Given the description of an element on the screen output the (x, y) to click on. 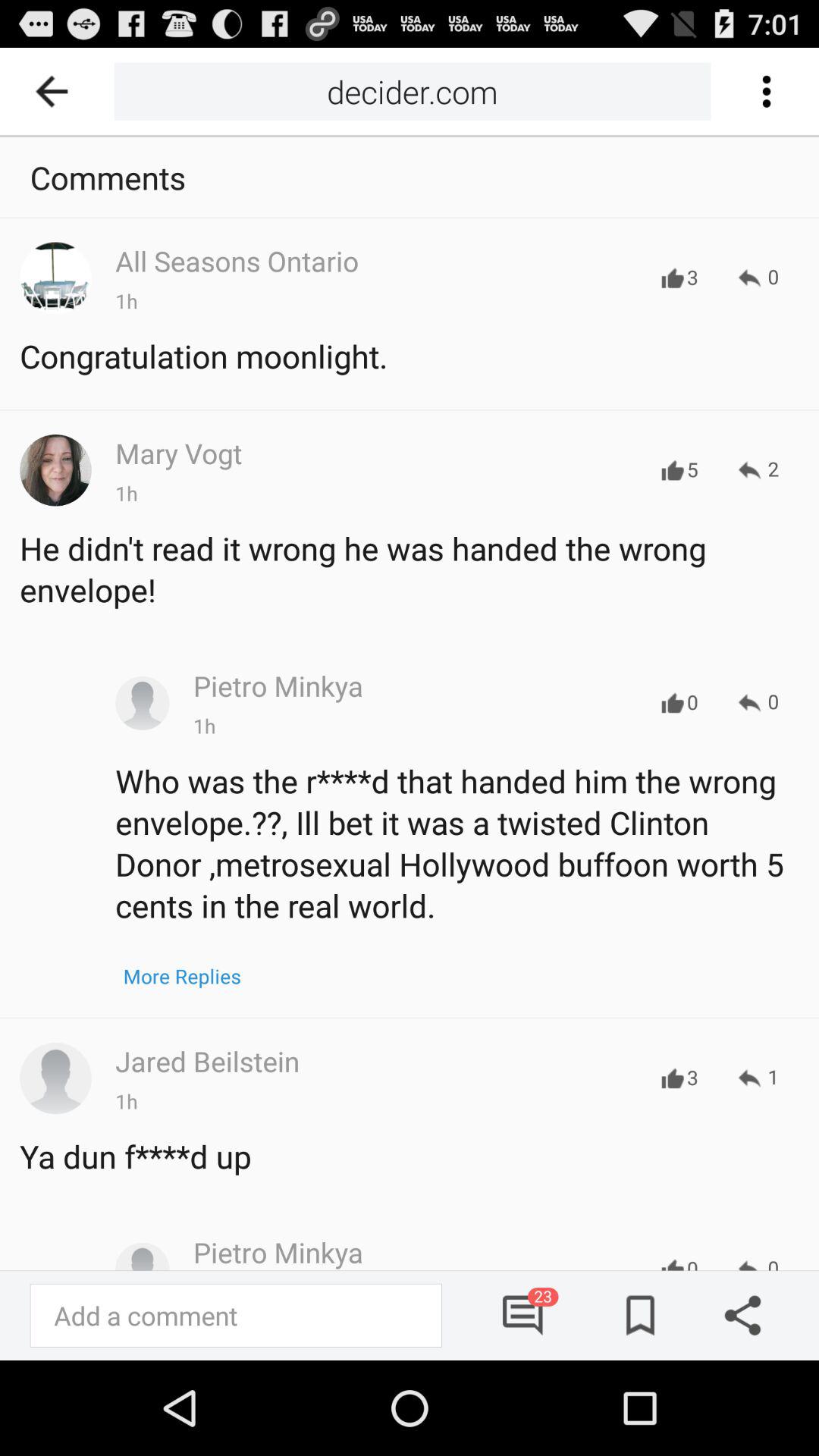
open up a person (55, 1078)
